Given the description of an element on the screen output the (x, y) to click on. 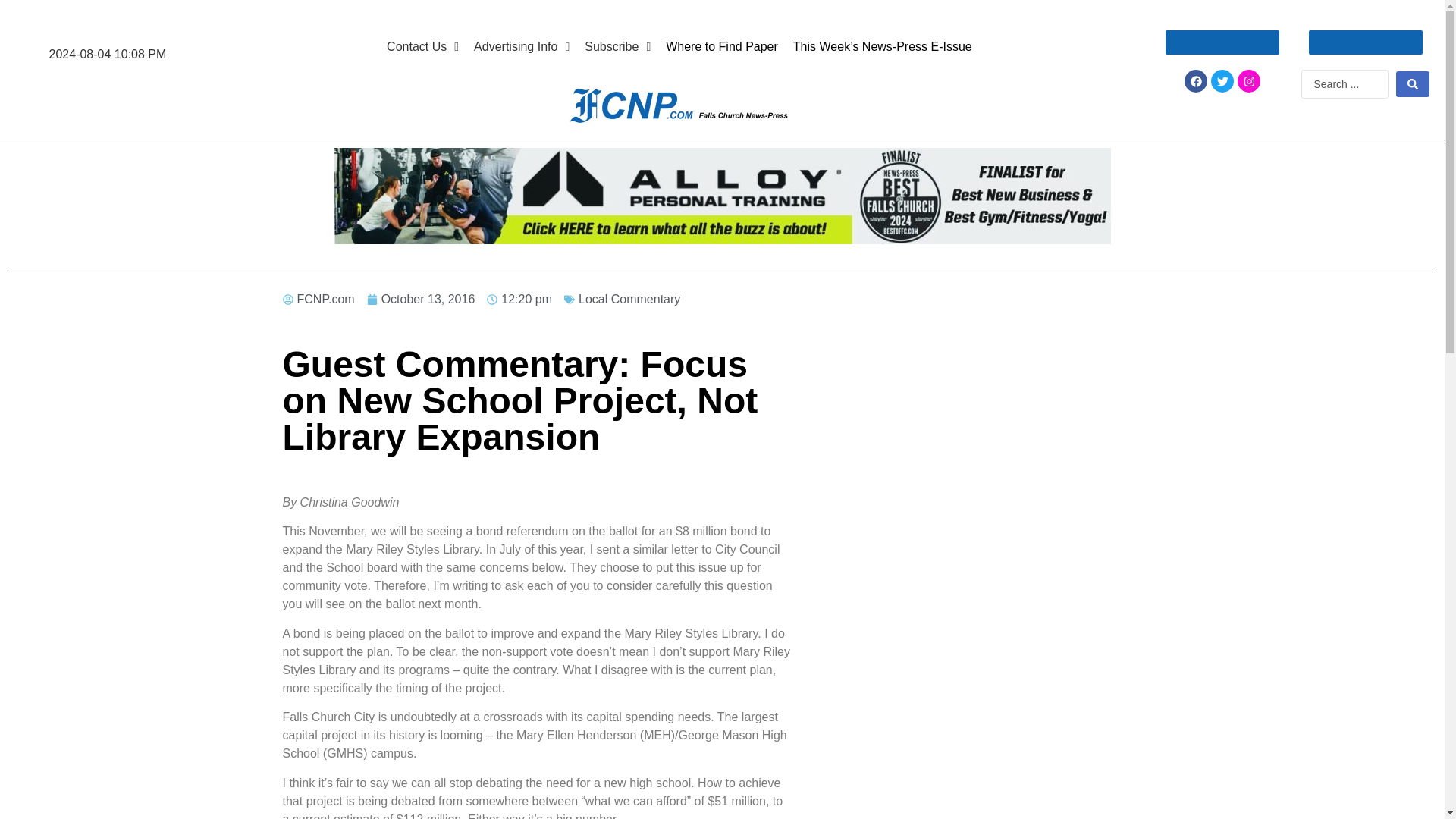
Subscribe (617, 46)
Where to Find Paper (722, 46)
Advertising Info (520, 46)
Contact Us (421, 46)
Local Commentary (628, 298)
October 13, 2016 (421, 299)
FCNP.com (317, 299)
